Given the description of an element on the screen output the (x, y) to click on. 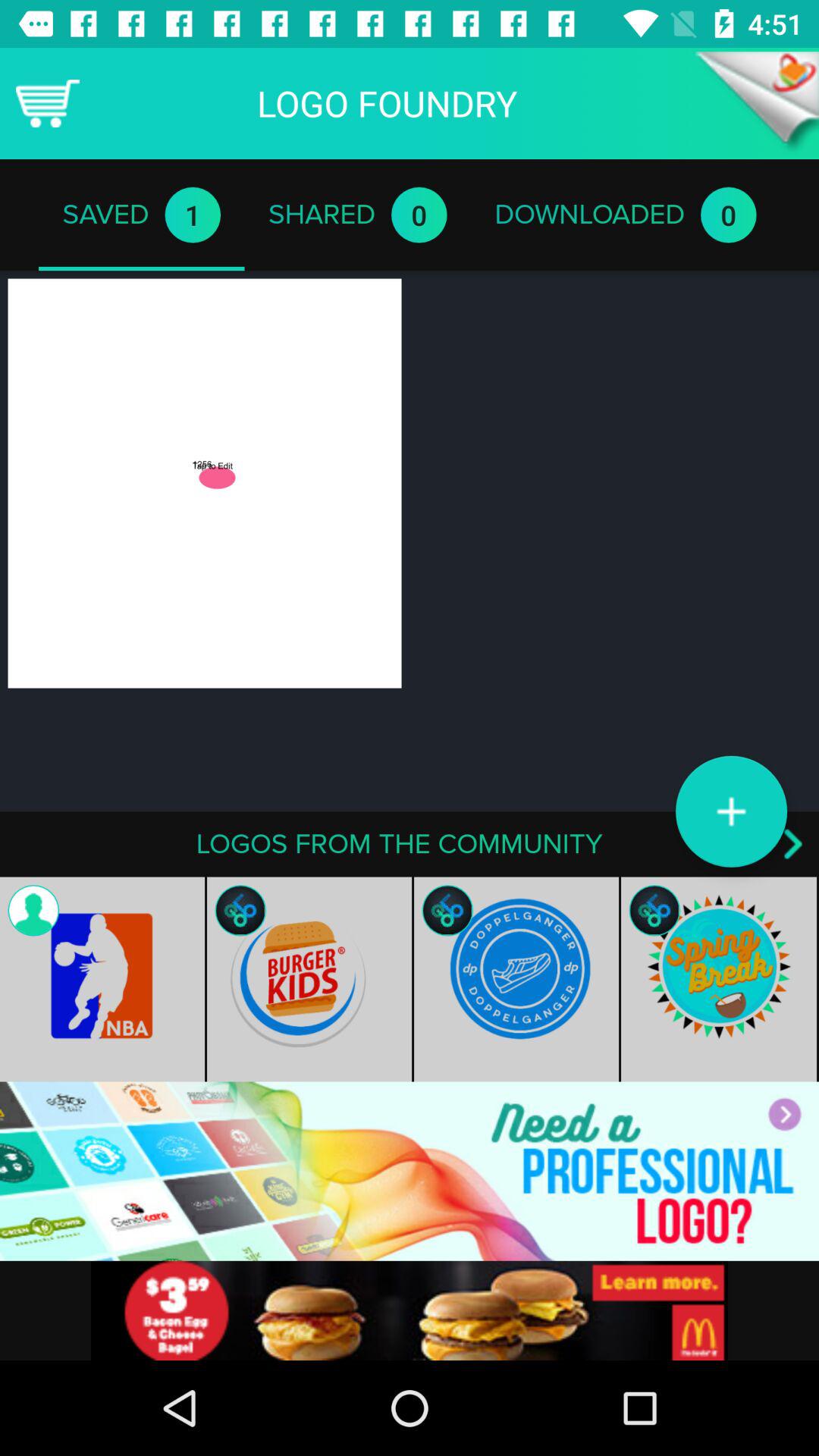
go to advertisement 's website (409, 1310)
